Given the description of an element on the screen output the (x, y) to click on. 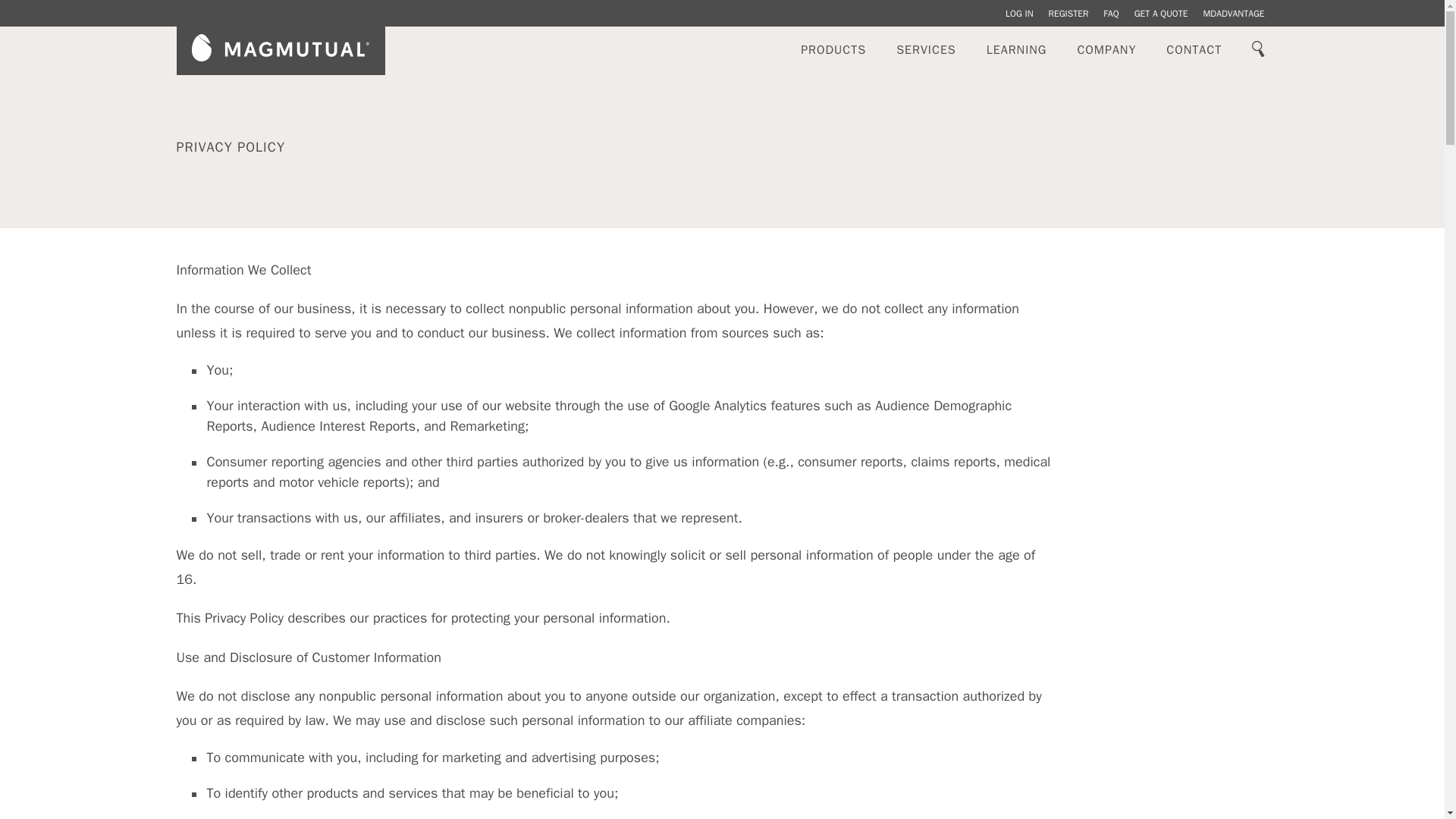
MAGMUTUAL (280, 50)
CONTACT (1193, 49)
MAGMUTUAL (280, 47)
REGISTER (1068, 13)
GET A QUOTE (1161, 13)
PRODUCTS (833, 49)
SERVICES (925, 49)
COMPANY (1106, 49)
MDADVANTAGE (1232, 13)
LOG IN (1019, 13)
